Given the description of an element on the screen output the (x, y) to click on. 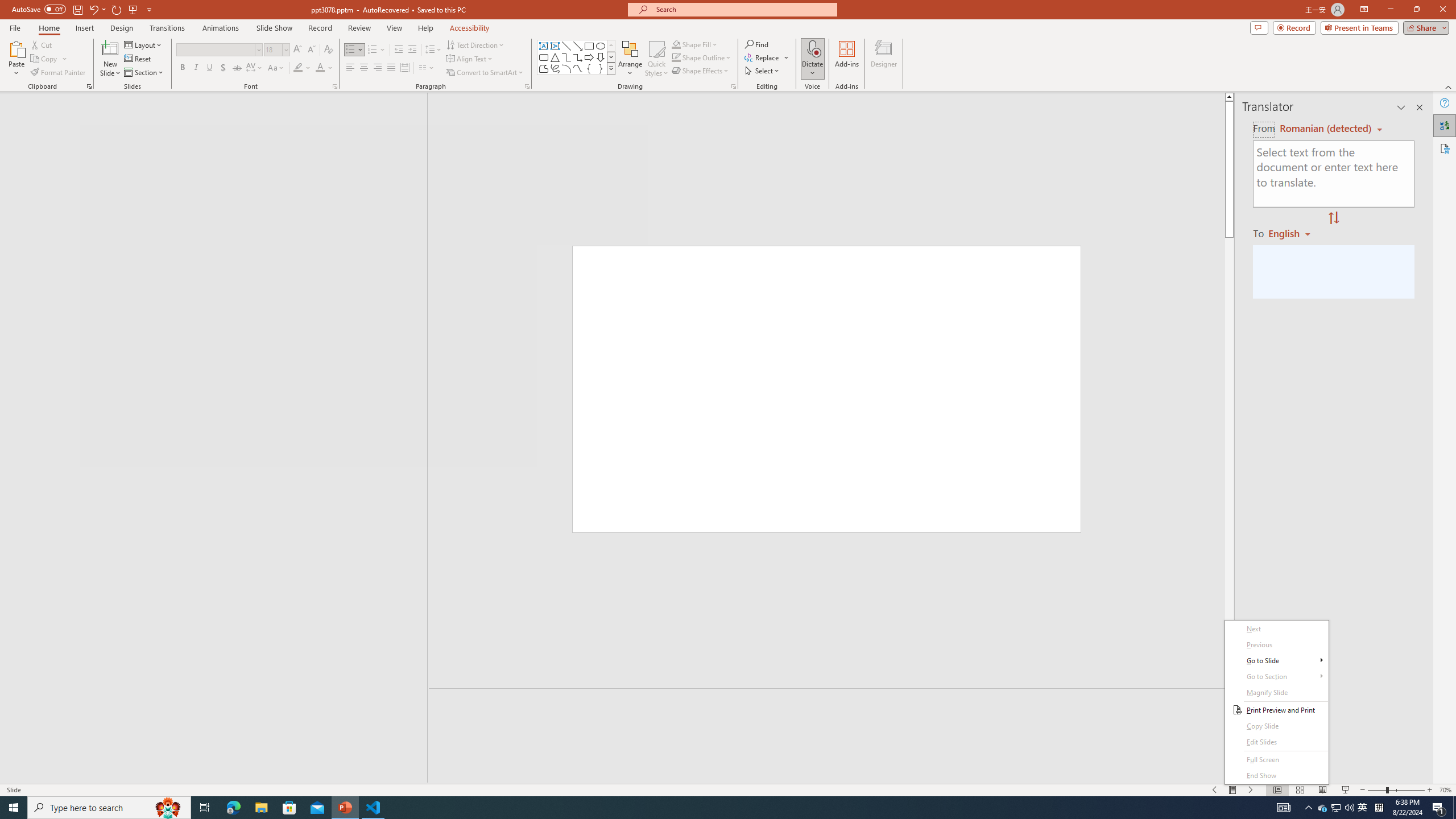
Columns (426, 67)
Microsoft Store (289, 807)
Left Brace (589, 68)
Dictate (812, 48)
Shape Fill Dark Green, Accent 2 (675, 44)
Increase Font Size (297, 49)
Print Preview and Print (1276, 710)
Italic (195, 67)
Curve (577, 68)
Shape Outline (701, 56)
Shadow (223, 67)
Freeform: Scribble (554, 68)
Isosceles Triangle (554, 57)
